Given the description of an element on the screen output the (x, y) to click on. 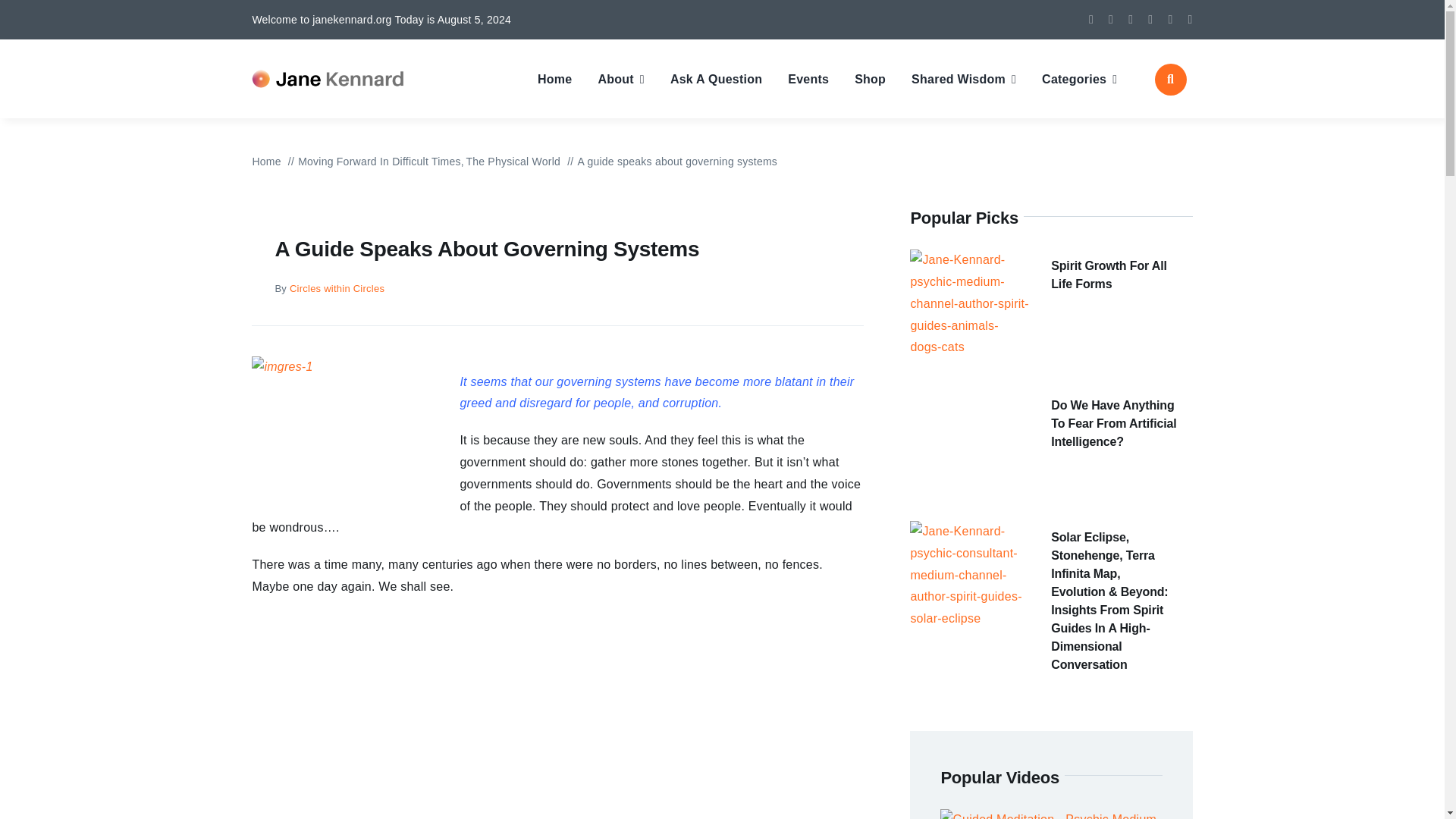
Posts by Circles within Circles (336, 288)
Ask A Question (715, 78)
Categories (1079, 78)
Shared Wisdom (963, 78)
About (620, 78)
